Given the description of an element on the screen output the (x, y) to click on. 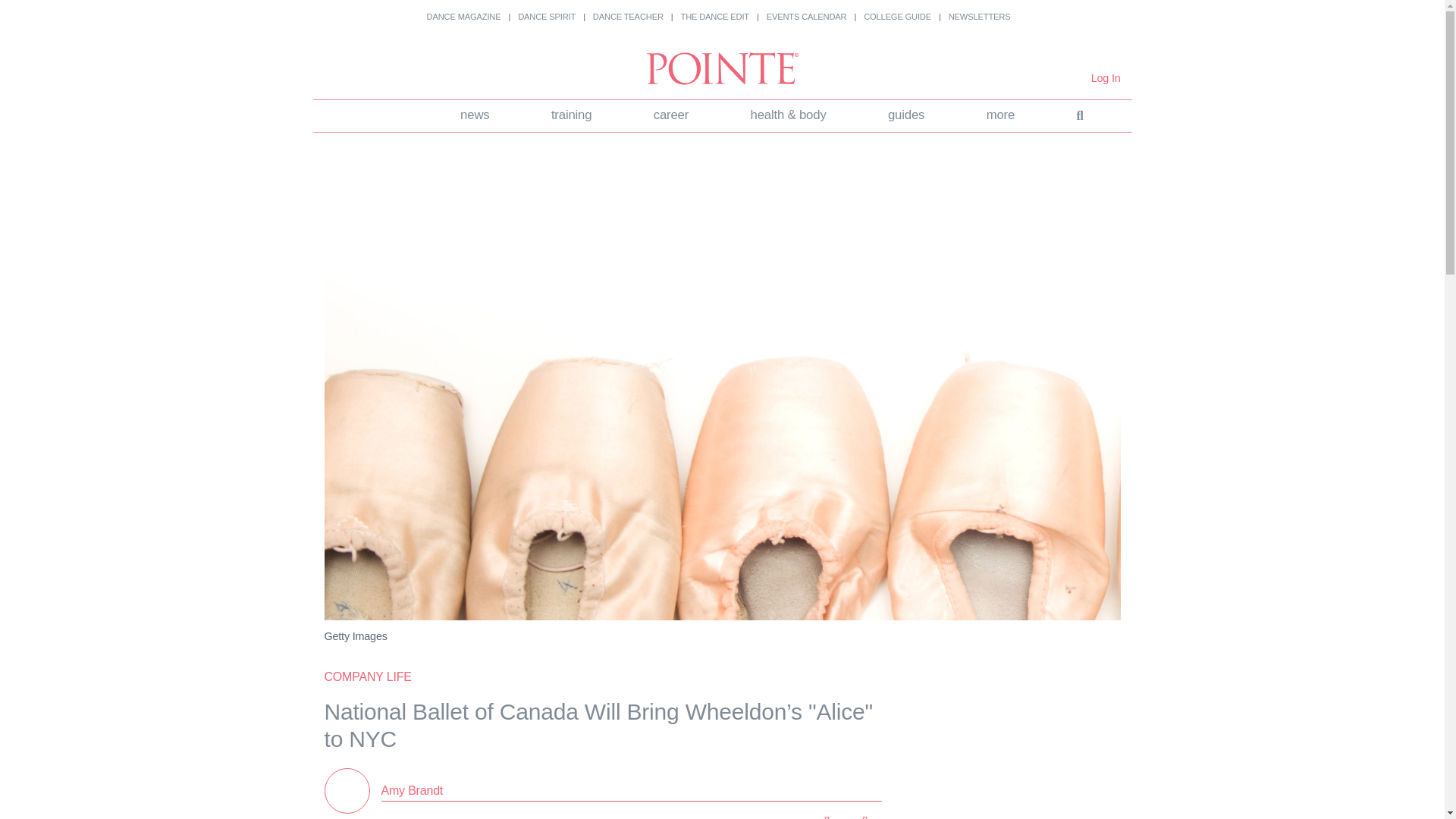
DANCE MAGAZINE (463, 16)
Members Login (1105, 78)
Follow on  (824, 816)
THE DANCE EDIT (715, 16)
EVENTS CALENDAR (807, 16)
Log In (1105, 78)
Follow on Twitter (710, 816)
Amy Brandt (411, 789)
guides (906, 115)
news (474, 115)
COLLEGE GUIDE (897, 16)
Follow on Pinterest (786, 816)
career (670, 115)
NEWSLETTERS (979, 16)
Follow on LinkedIn (748, 816)
